Given the description of an element on the screen output the (x, y) to click on. 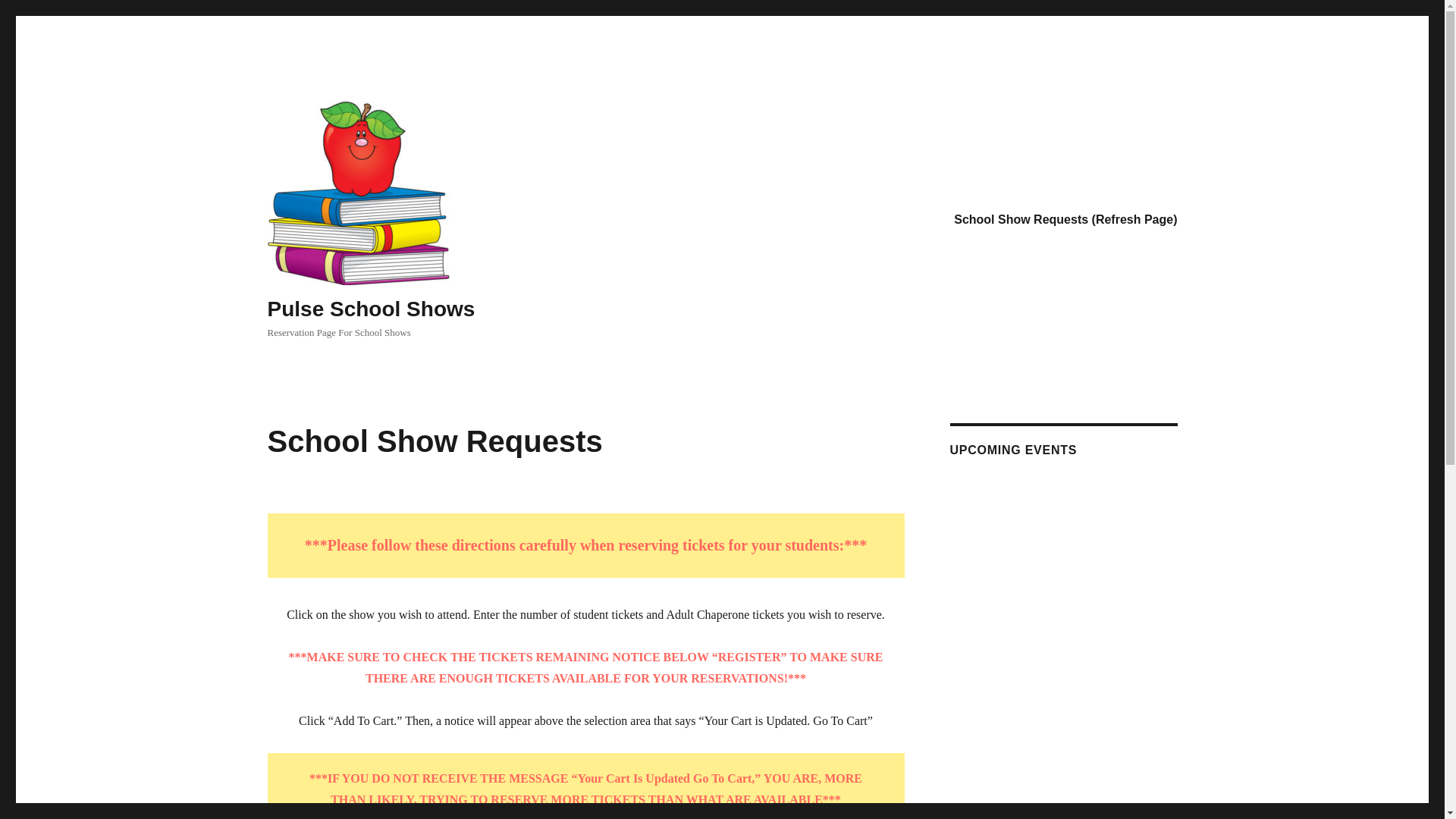
Pulse School Shows (370, 309)
